Given the description of an element on the screen output the (x, y) to click on. 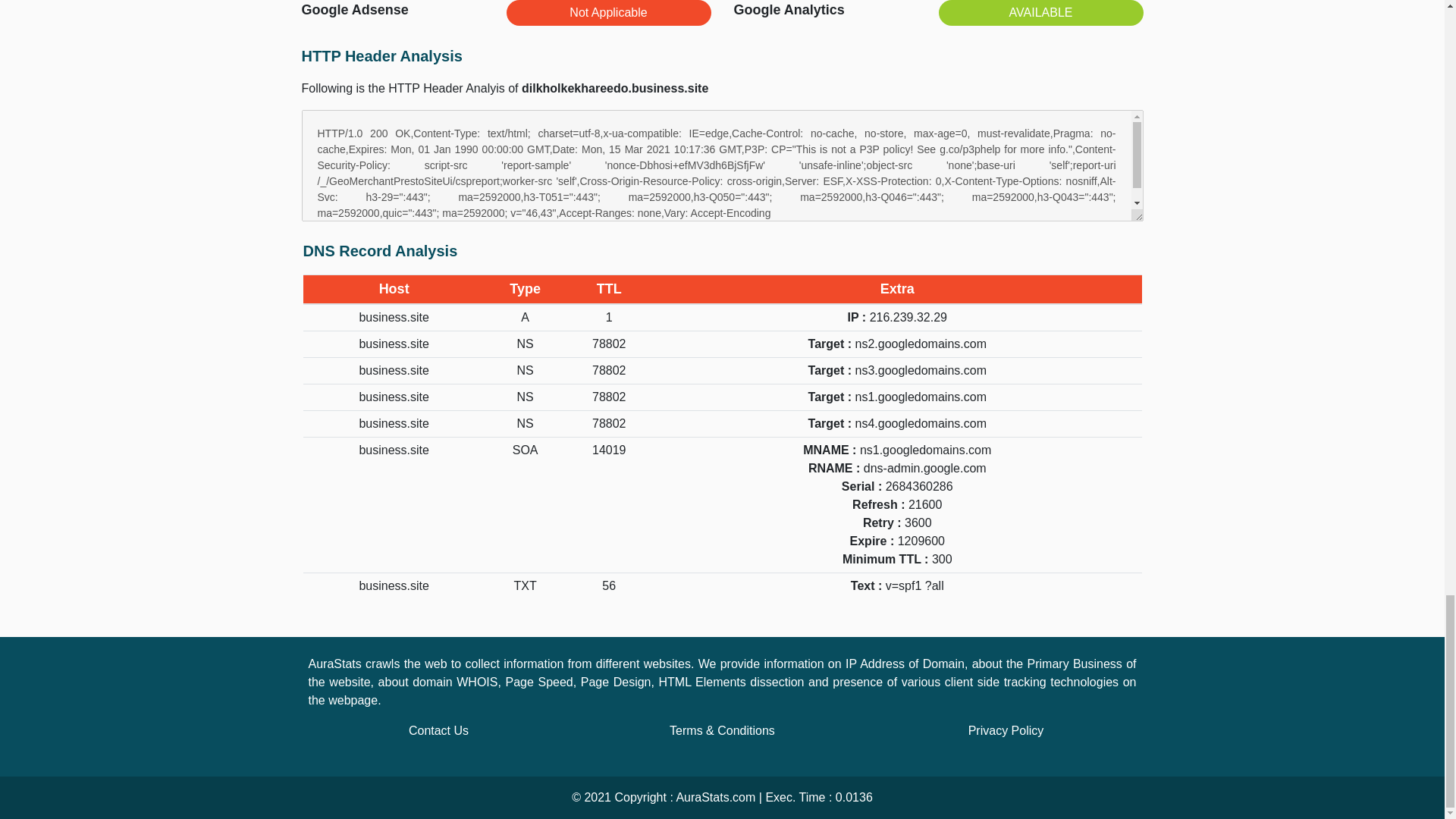
Contact Us (438, 730)
AuraStats.com (715, 797)
Privacy Policy (1005, 730)
